Given the description of an element on the screen output the (x, y) to click on. 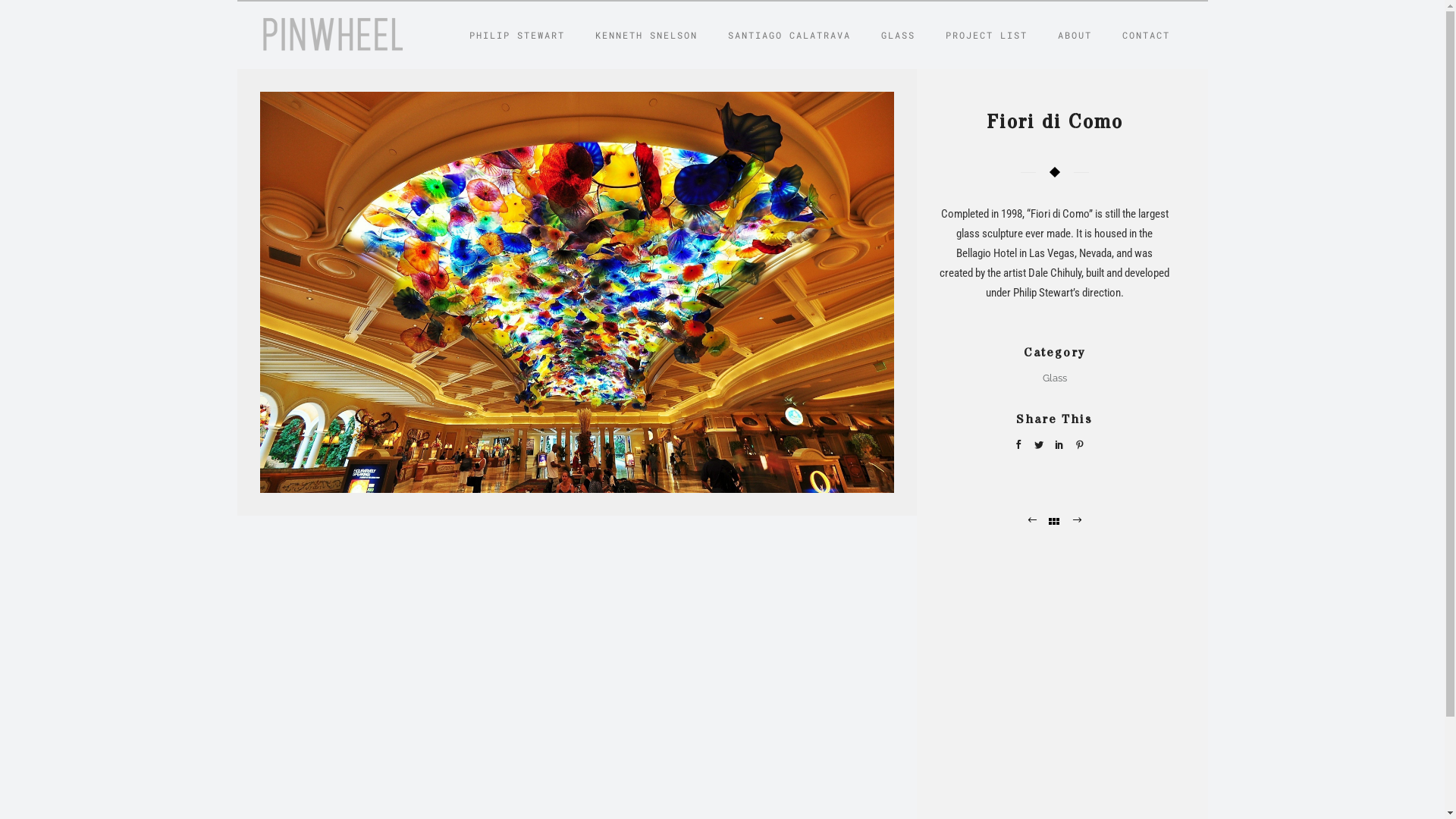
PROJECT LIST Element type: text (985, 34)
ABOUT Element type: text (1073, 34)
CONTACT Element type: text (1146, 34)
KENNETH SNELSON Element type: text (645, 34)
Glass Element type: text (1053, 377)
BLACKBIRD IN A RED SKY (A.K.A. FALL OF THE BLOOD HOUSE) Element type: hover (1032, 521)
SANTIAGO CALATRAVA Element type: text (789, 34)
Santiago Calatrava S3 Element type: hover (1076, 521)
GLASS Element type: text (898, 34)
PHILIP STEWART Element type: text (516, 34)
